Given the description of an element on the screen output the (x, y) to click on. 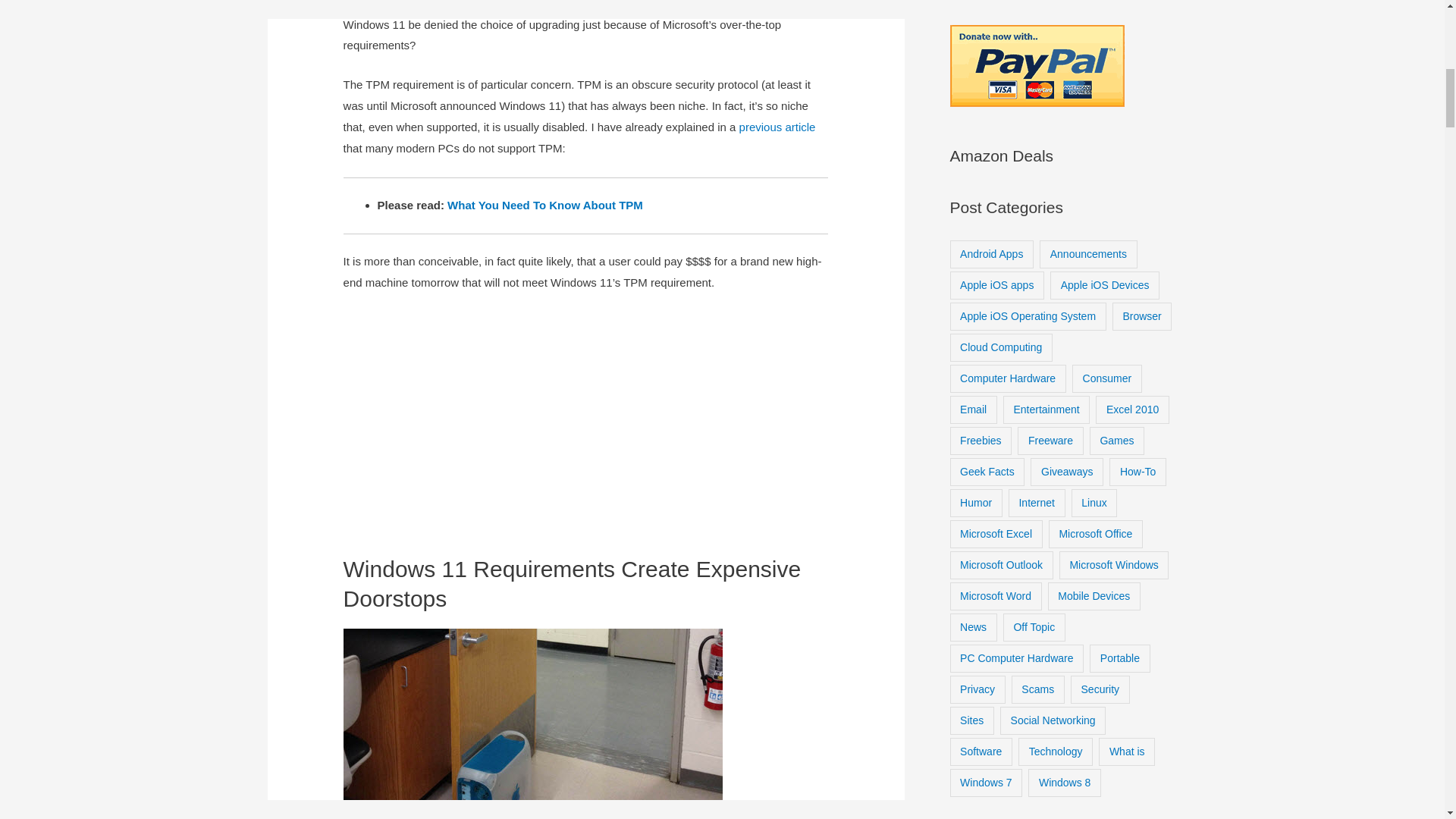
3rd party ad content (585, 433)
